Given the description of an element on the screen output the (x, y) to click on. 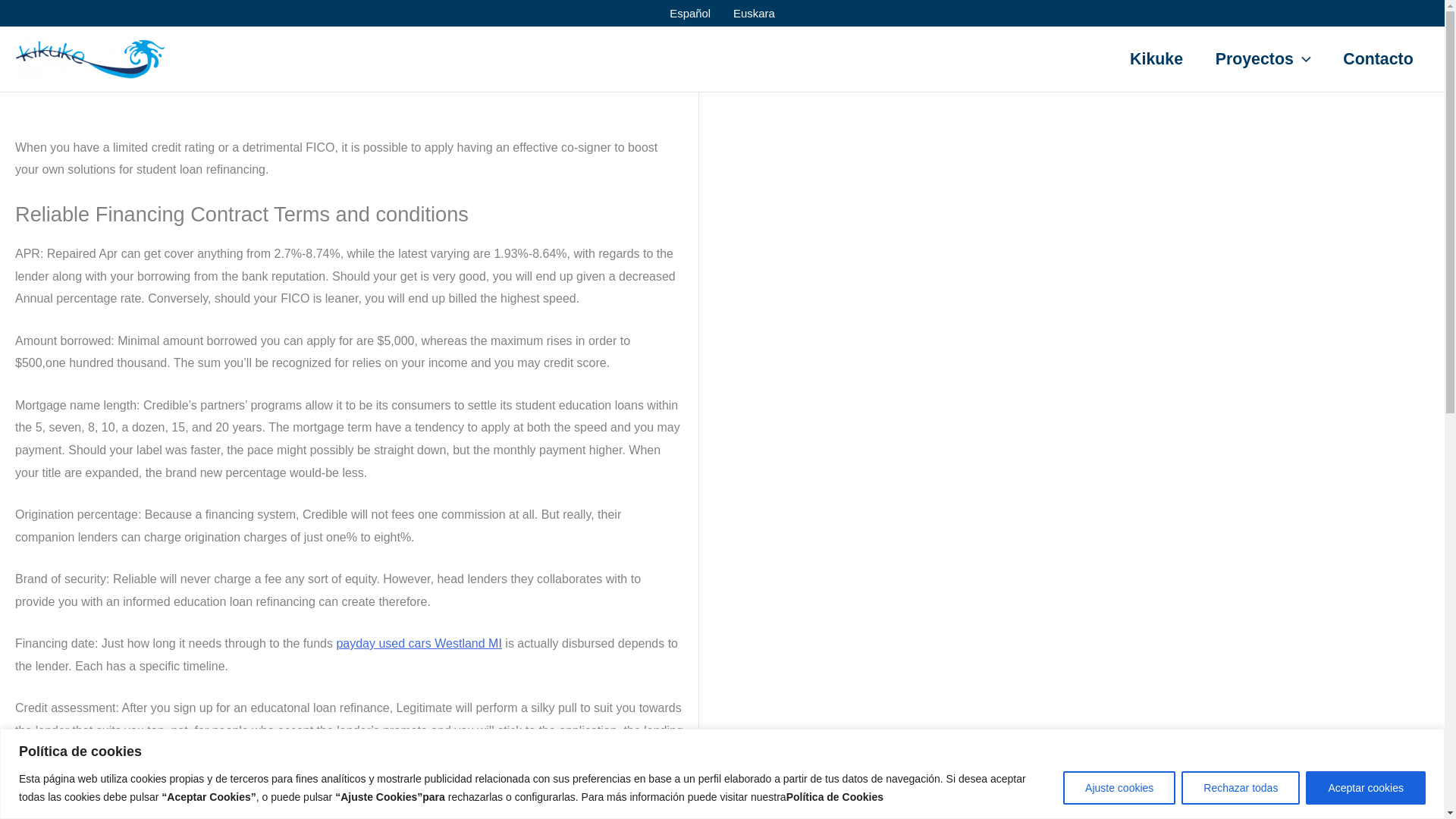
Rechazar todas (1240, 786)
Aceptar cookies (1365, 786)
Ajuste cookies (1118, 786)
Contacto (1377, 58)
Euskara (754, 13)
payday used cars Westland MI (418, 643)
Kikuke (1156, 58)
Proyectos (1262, 58)
